Given the description of an element on the screen output the (x, y) to click on. 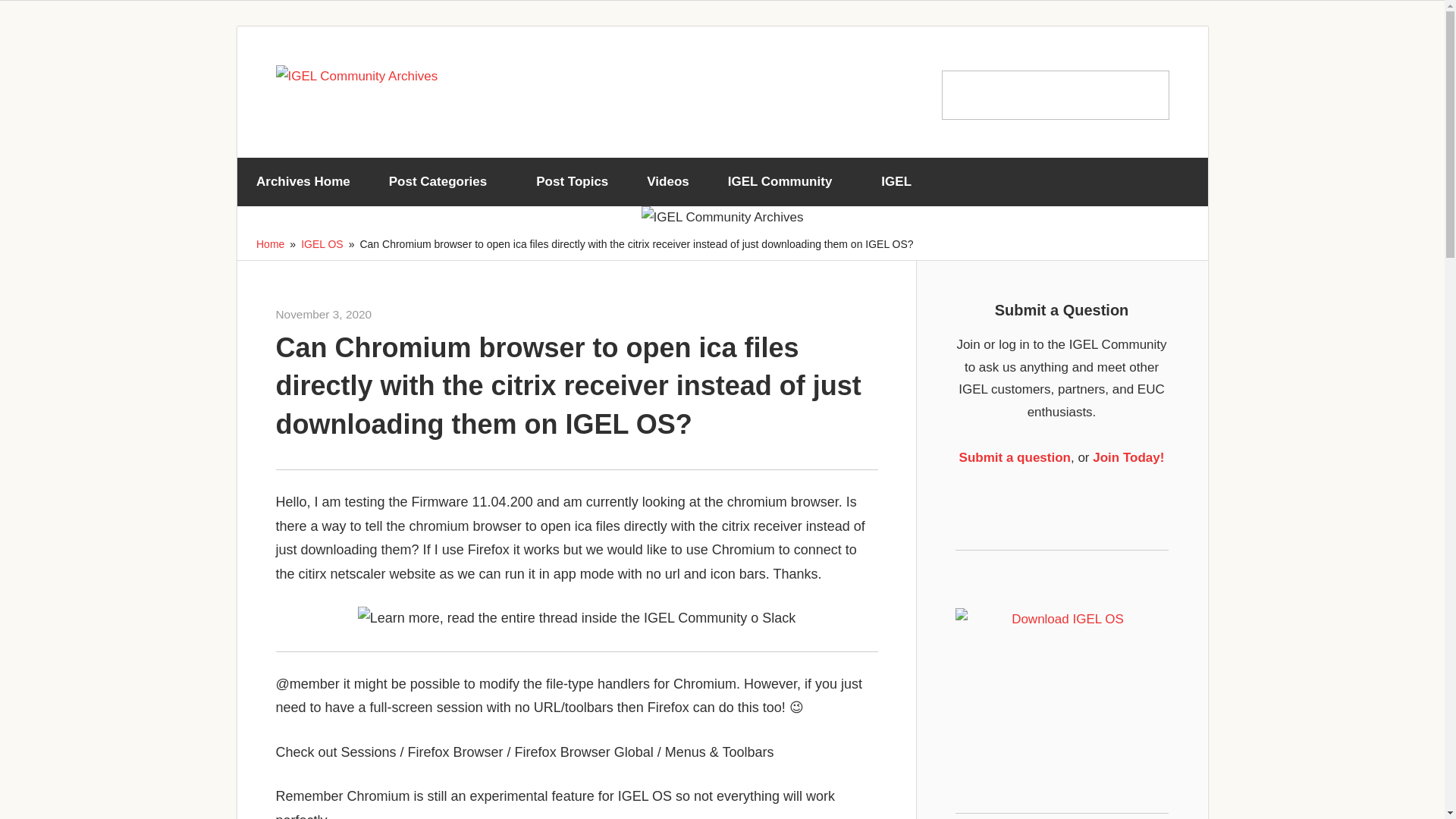
IGEL Community Archives (433, 313)
Videos (667, 182)
Home (269, 244)
View all posts by IGEL Community Archives (433, 313)
November 3, 2020 (324, 314)
Download IGEL OS (1062, 670)
IGEL OS (322, 244)
Post Categories (442, 182)
11:26 am (324, 314)
IGEL (901, 182)
Post Topics (571, 182)
IGEL Community (784, 182)
Archives Home (302, 182)
